Given the description of an element on the screen output the (x, y) to click on. 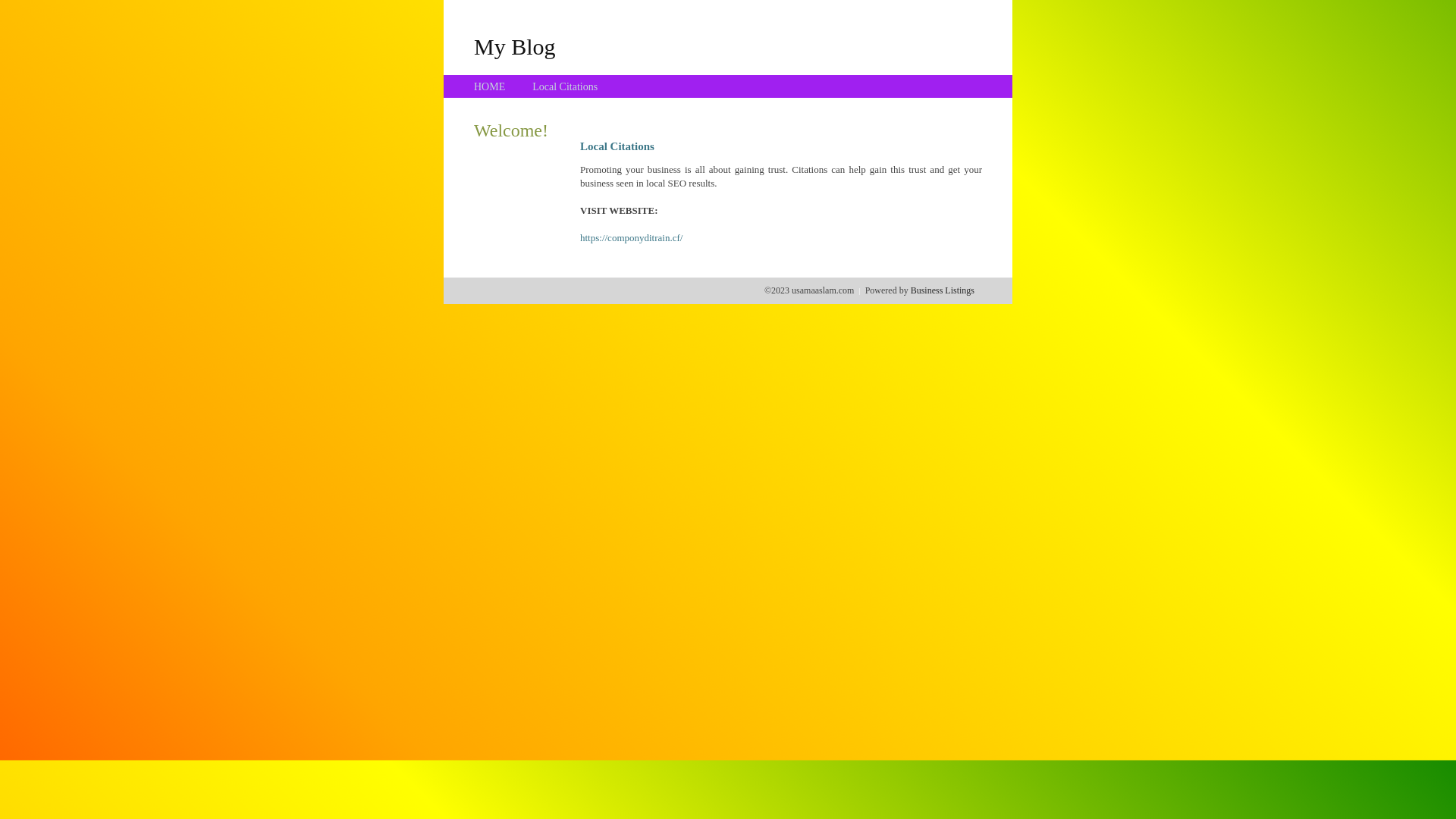
Local Citations Element type: text (564, 86)
Business Listings Element type: text (942, 290)
https://componyditrain.cf/ Element type: text (631, 237)
My Blog Element type: text (514, 46)
HOME Element type: text (489, 86)
